Given the description of an element on the screen output the (x, y) to click on. 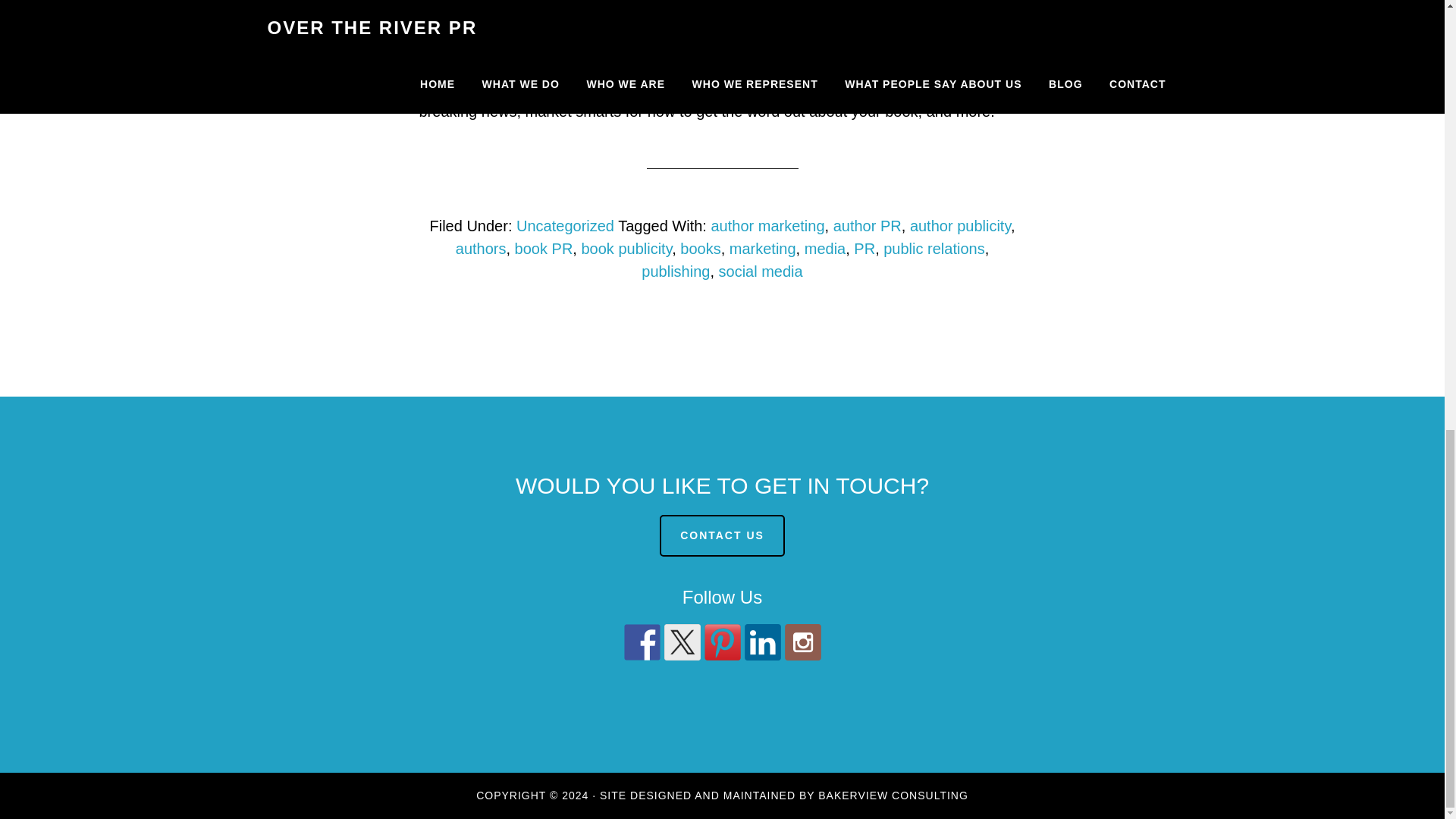
author publicity (960, 225)
Uncategorized (565, 225)
book publicity (625, 248)
book PR (544, 248)
author PR (866, 225)
Our board on Pinterest (721, 642)
author marketing (767, 225)
Follow us on Twitter (681, 642)
Find us on Linkedin (762, 642)
Follow us on Facebook (641, 642)
authors (480, 248)
Check out our instagram feed (802, 642)
